Given the description of an element on the screen output the (x, y) to click on. 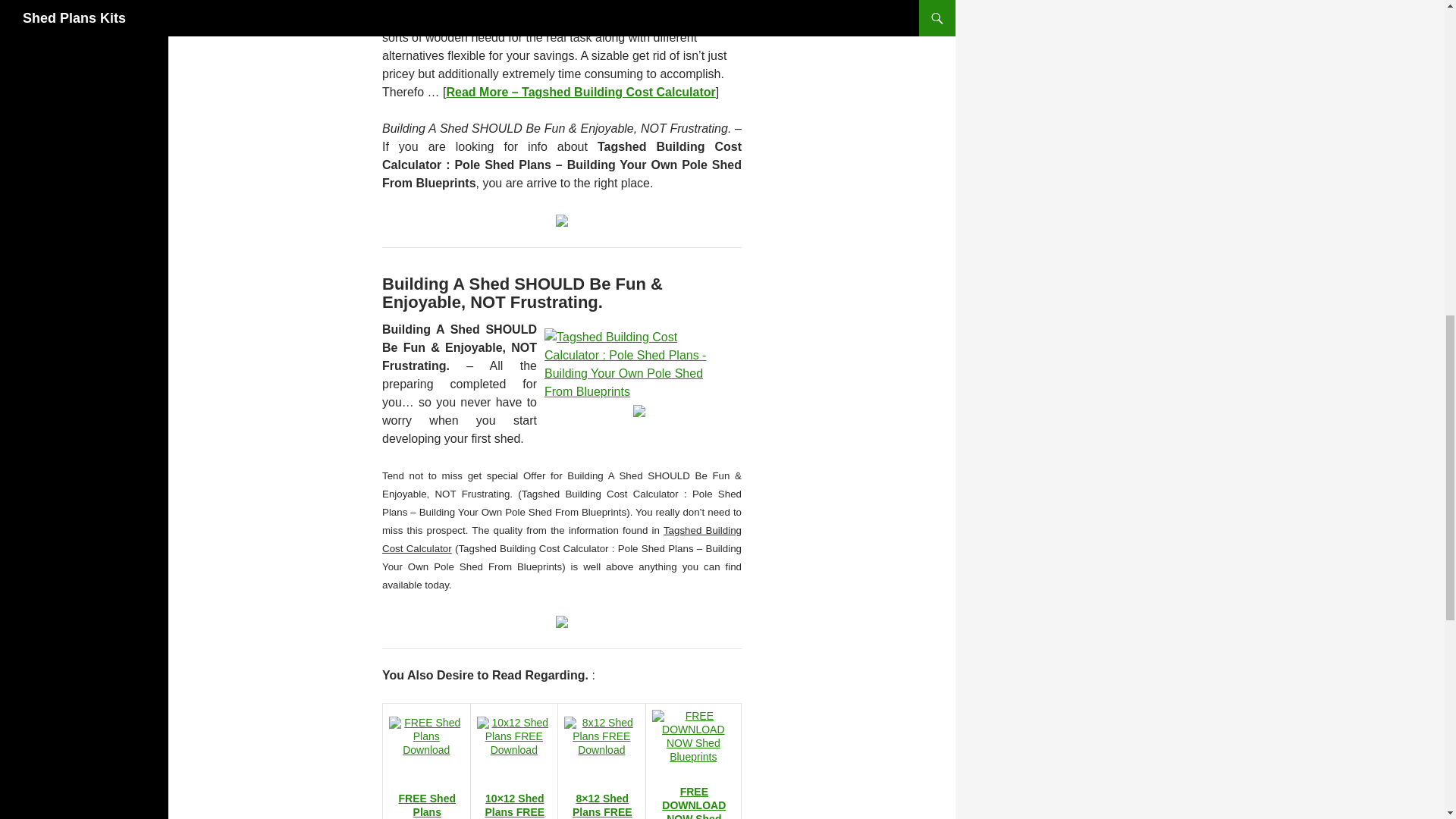
tagshed building cost calculator (579, 91)
tagshed building cost calculator (639, 409)
tagshed building cost calculator (638, 363)
FREE Shed Plans Download (426, 805)
FREE DOWNLOAD NOW Shed Blueprints (693, 802)
tagshed building cost calculator (561, 219)
tagshed building cost calculator (561, 620)
